Given the description of an element on the screen output the (x, y) to click on. 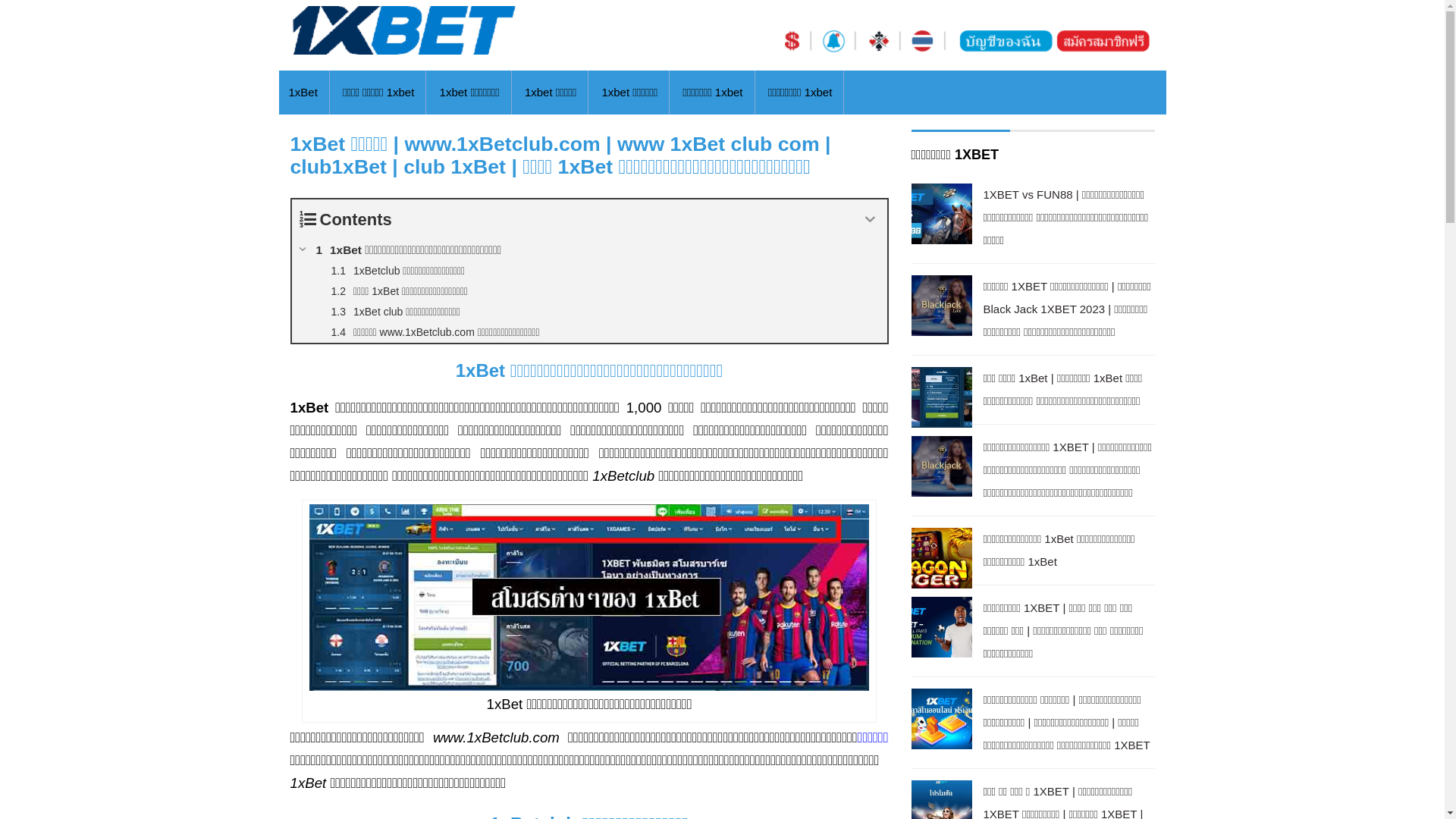
1xBet Element type: text (302, 92)
